Given the description of an element on the screen output the (x, y) to click on. 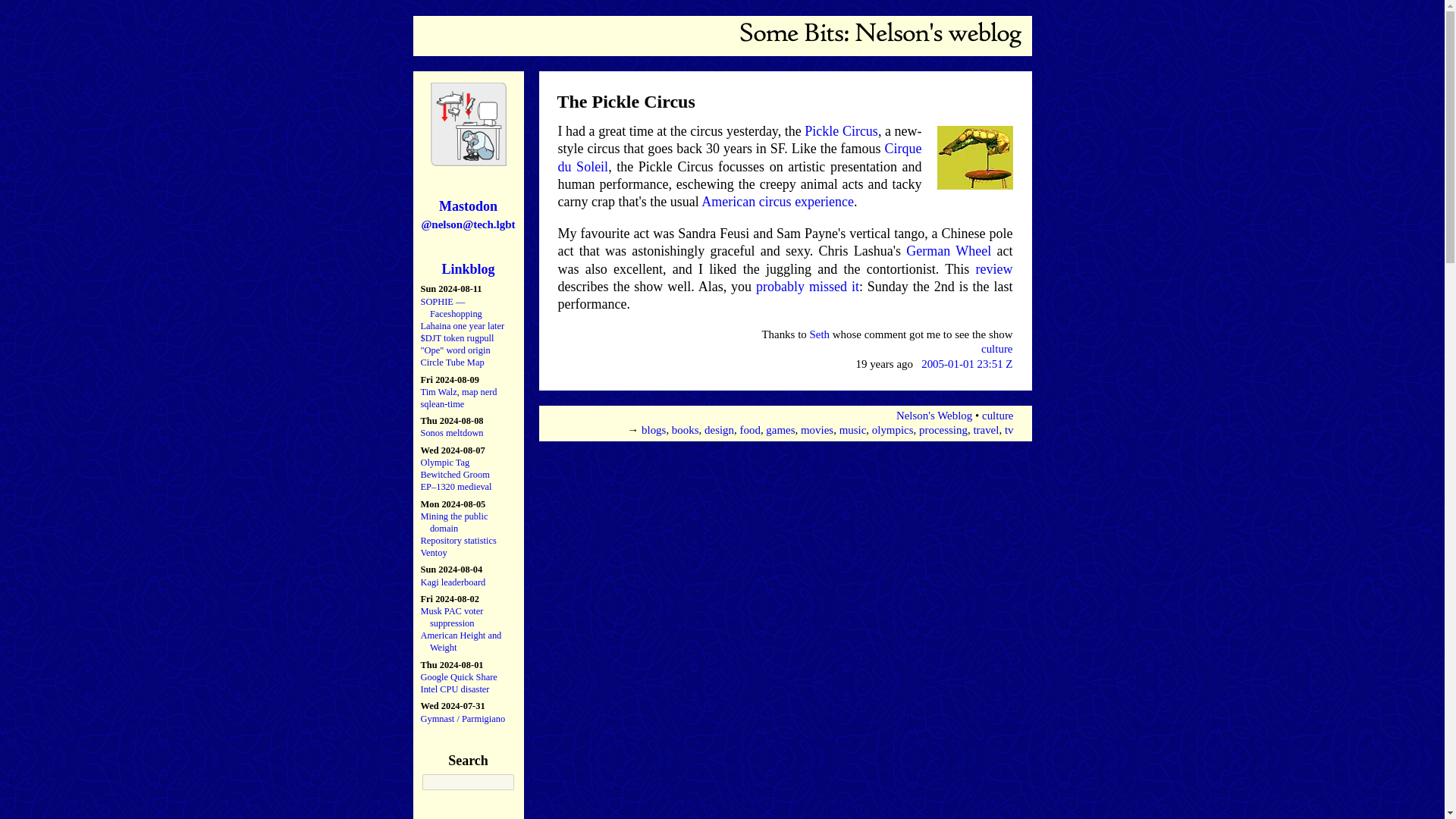
Circle Tube Map (451, 362)
Bewitched Groom (454, 474)
Tim Walz, map nerd (458, 391)
Repository statistics (458, 540)
New sqlite extension for nanosecond precision time (442, 403)
